Given the description of an element on the screen output the (x, y) to click on. 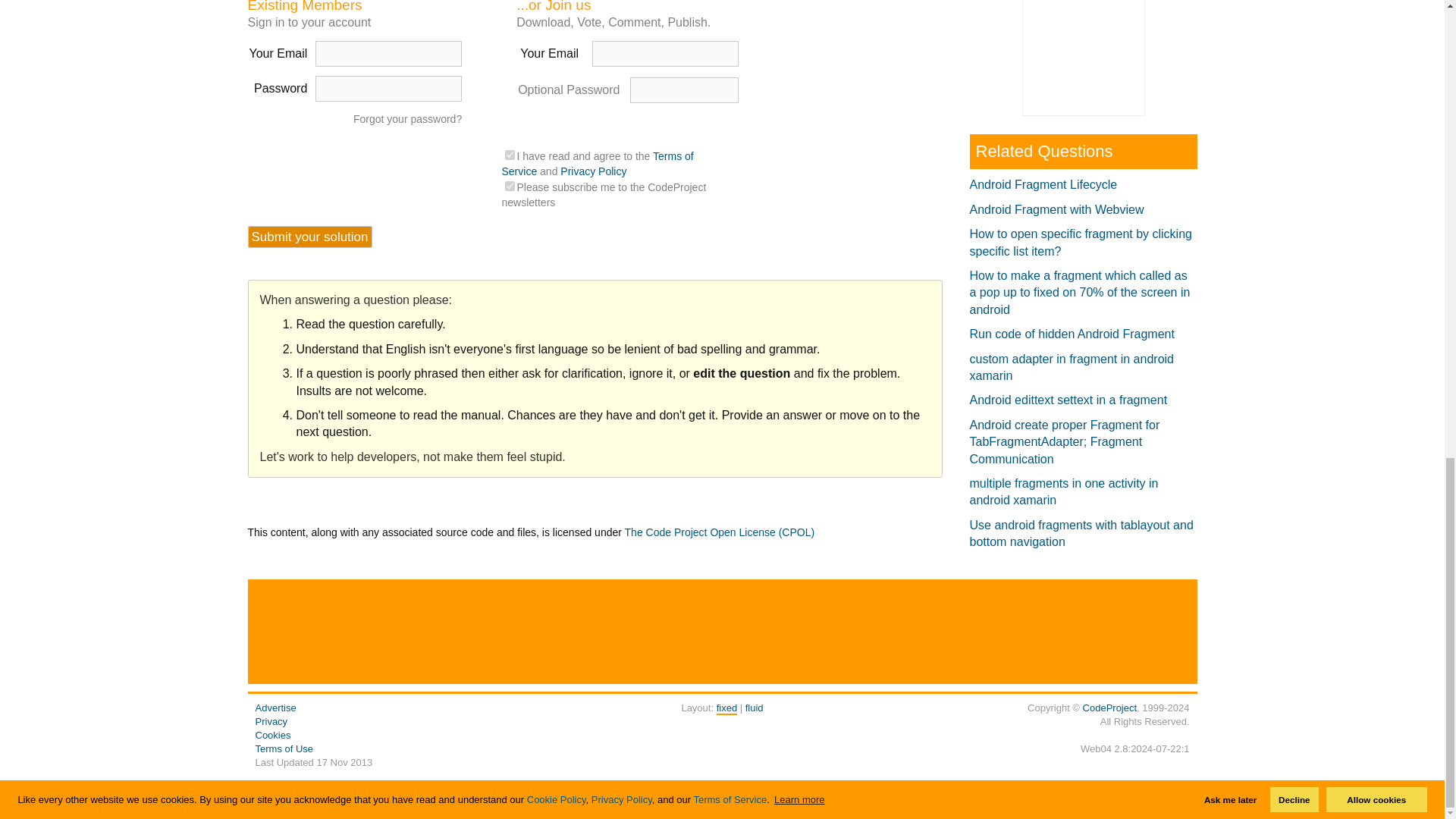
on (510, 154)
on (510, 185)
